Given the description of an element on the screen output the (x, y) to click on. 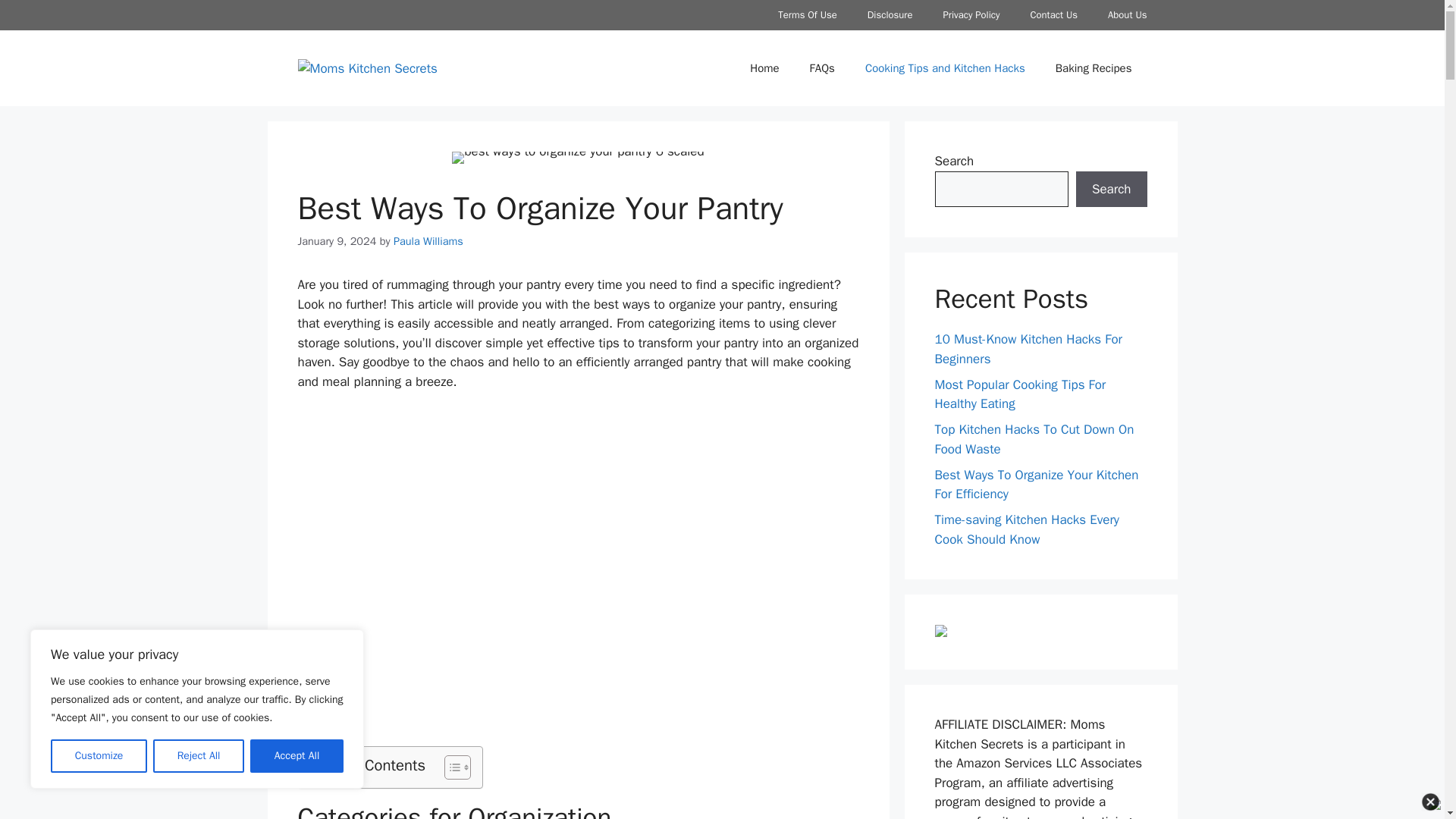
View all posts by Paula Williams (428, 241)
Contact Us (1053, 15)
Accept All (296, 756)
Customize (98, 756)
Baking Recipes (1094, 67)
Home (764, 67)
Privacy Policy (970, 15)
Disclosure (889, 15)
Cooking Tips and Kitchen Hacks (945, 67)
Reject All (198, 756)
Paula Williams (428, 241)
FAQs (822, 67)
Terms Of Use (806, 15)
About Us (1127, 15)
